Given the description of an element on the screen output the (x, y) to click on. 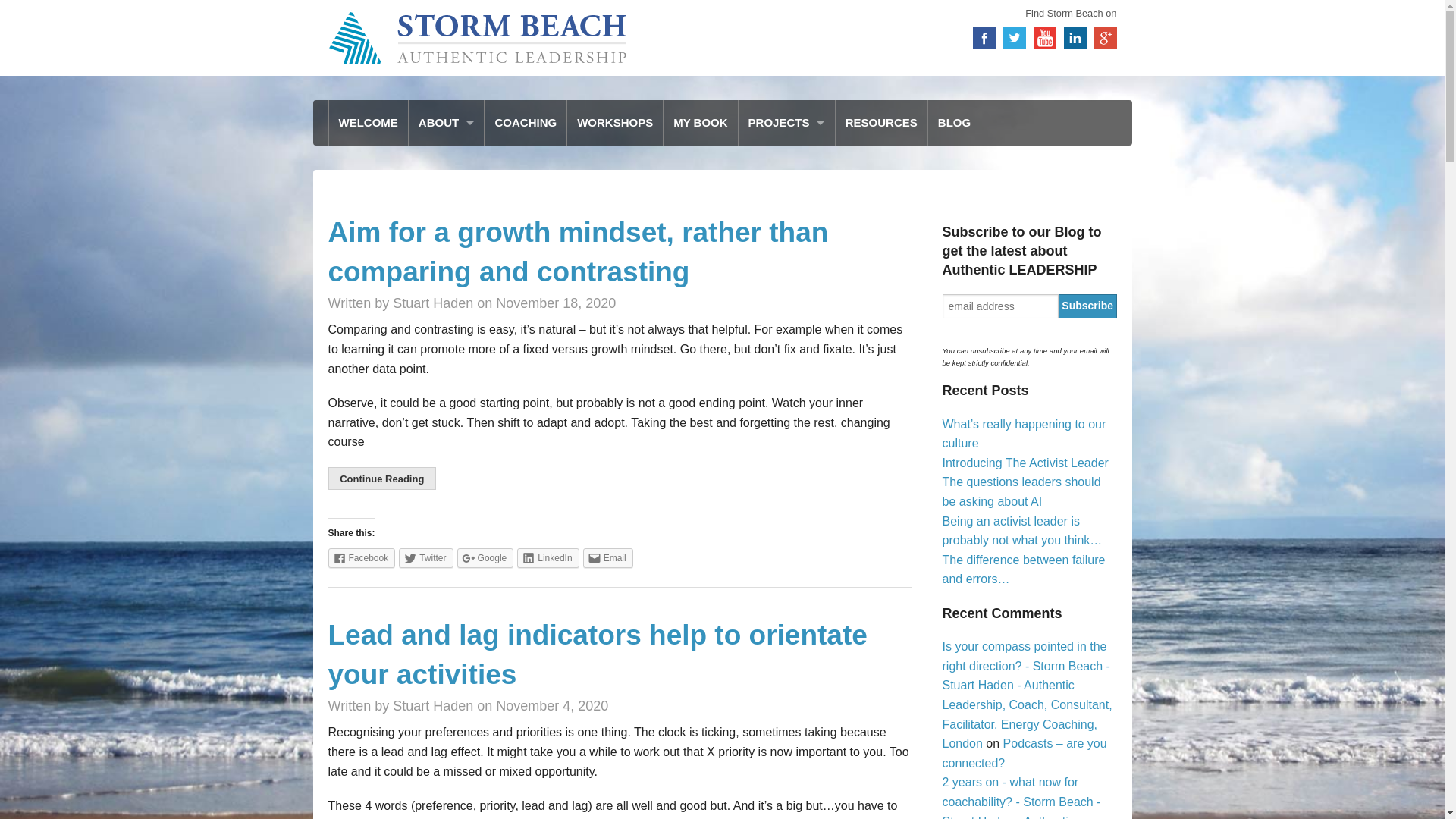
Click to share on LinkedIn (547, 557)
RESOURCES (881, 122)
Storm Beach (478, 37)
ABOUT (446, 122)
WORKSHOPS (614, 122)
Google (485, 557)
Lead and lag indicators help to orientate your activities (596, 654)
Twitter (1014, 37)
LinkedIn (1074, 37)
BLOG (953, 122)
Subscribe (1087, 306)
LinkedIn (1074, 37)
YouTube (1043, 37)
Google Plus (1104, 37)
YouTube (1043, 37)
